Given the description of an element on the screen output the (x, y) to click on. 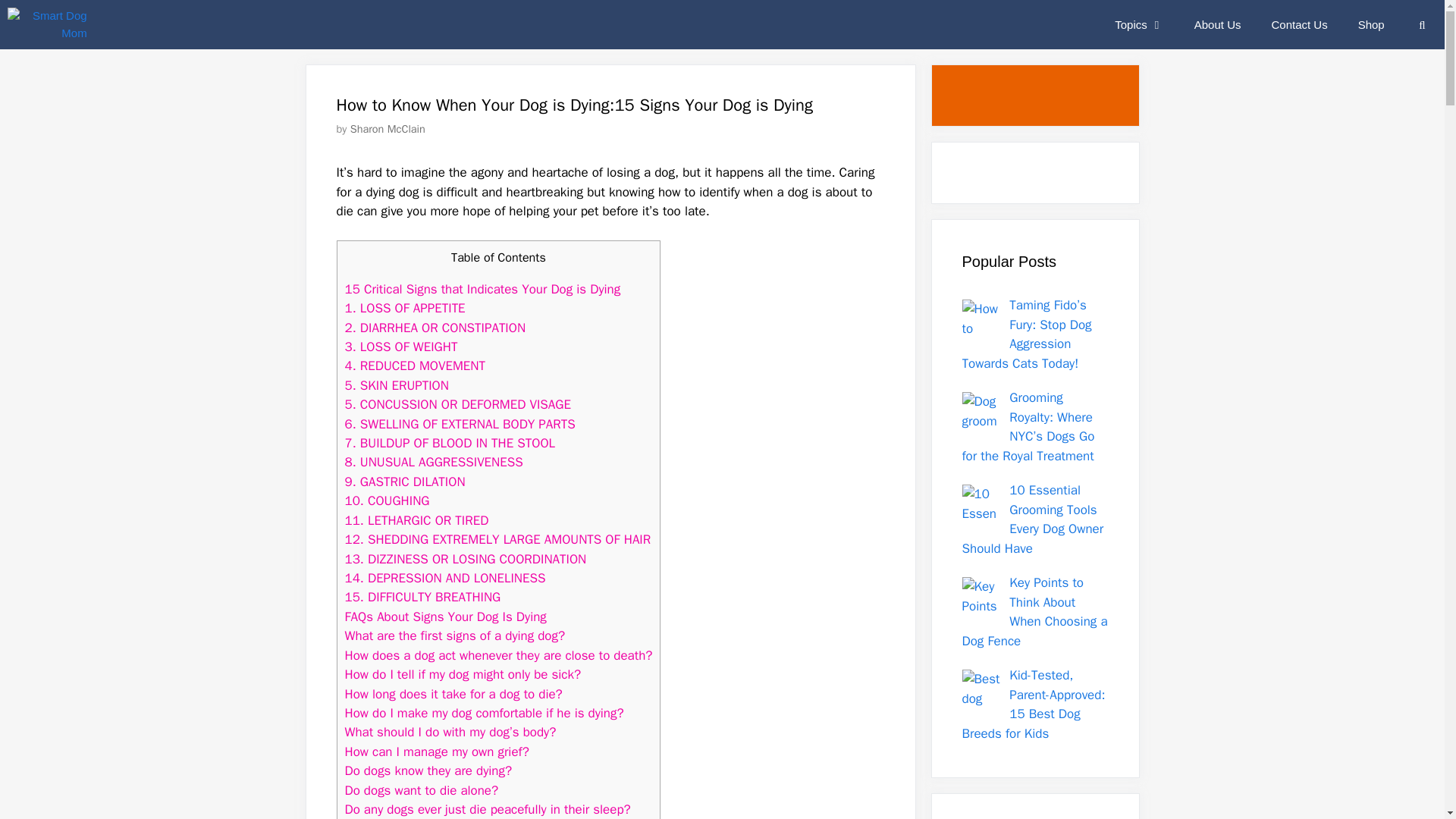
How do I tell if my dog might only be sick? (461, 674)
What are the first signs of a dying dog?  (456, 635)
14. DEPRESSION AND LONELINESS (443, 578)
15. DIFFICULTY BREATHING (421, 596)
9. GASTRIC DILATION (403, 481)
5. SKIN ERUPTION (395, 385)
10. COUGHING (386, 500)
11. LETHARGIC OR TIRED (415, 520)
12. SHEDDING EXTREMELY LARGE AMOUNTS OF HAIR (496, 539)
5. CONCUSSION OR DEFORMED VISAGE (456, 404)
